Given the description of an element on the screen output the (x, y) to click on. 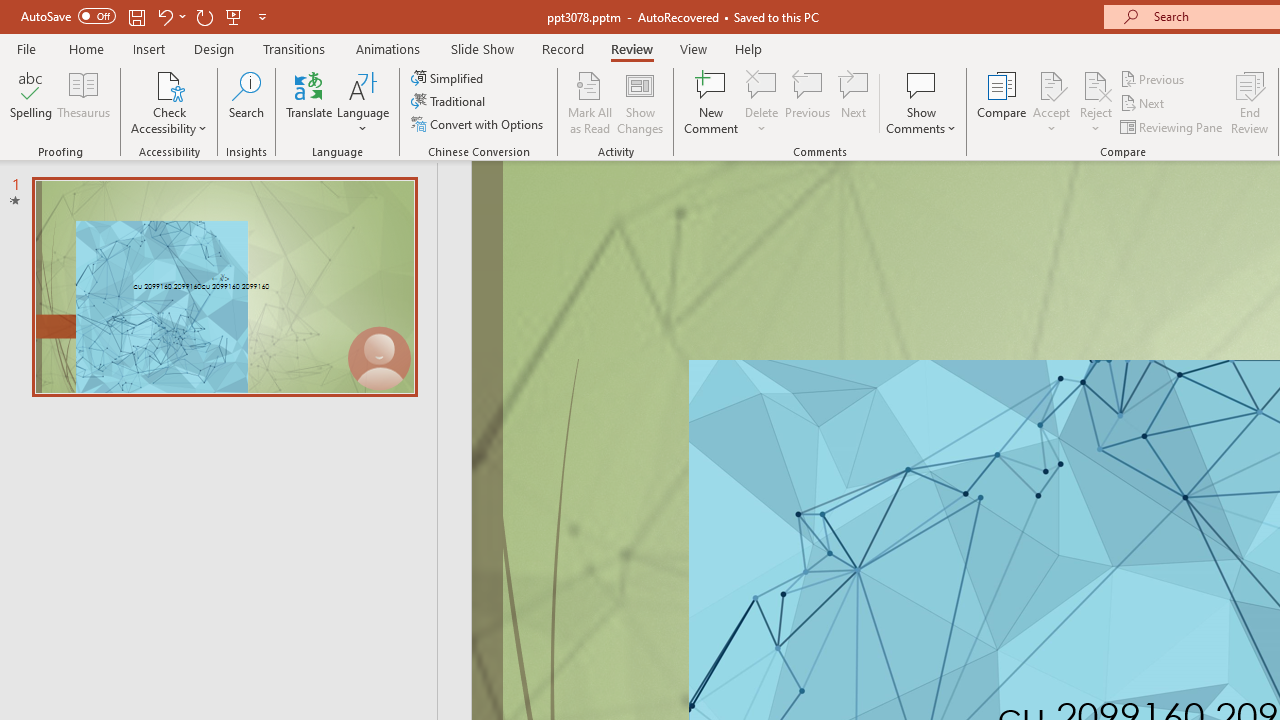
Check Accessibility (169, 102)
Simplified (449, 78)
Accept (1051, 102)
Quick Access Toolbar (145, 16)
Convert with Options... (479, 124)
Customize Quick Access Toolbar (262, 15)
Review (631, 48)
Search (246, 102)
Accept Change (1051, 84)
View (693, 48)
End Review (1249, 102)
Reject Change (1096, 84)
Previous (1153, 78)
